Given the description of an element on the screen output the (x, y) to click on. 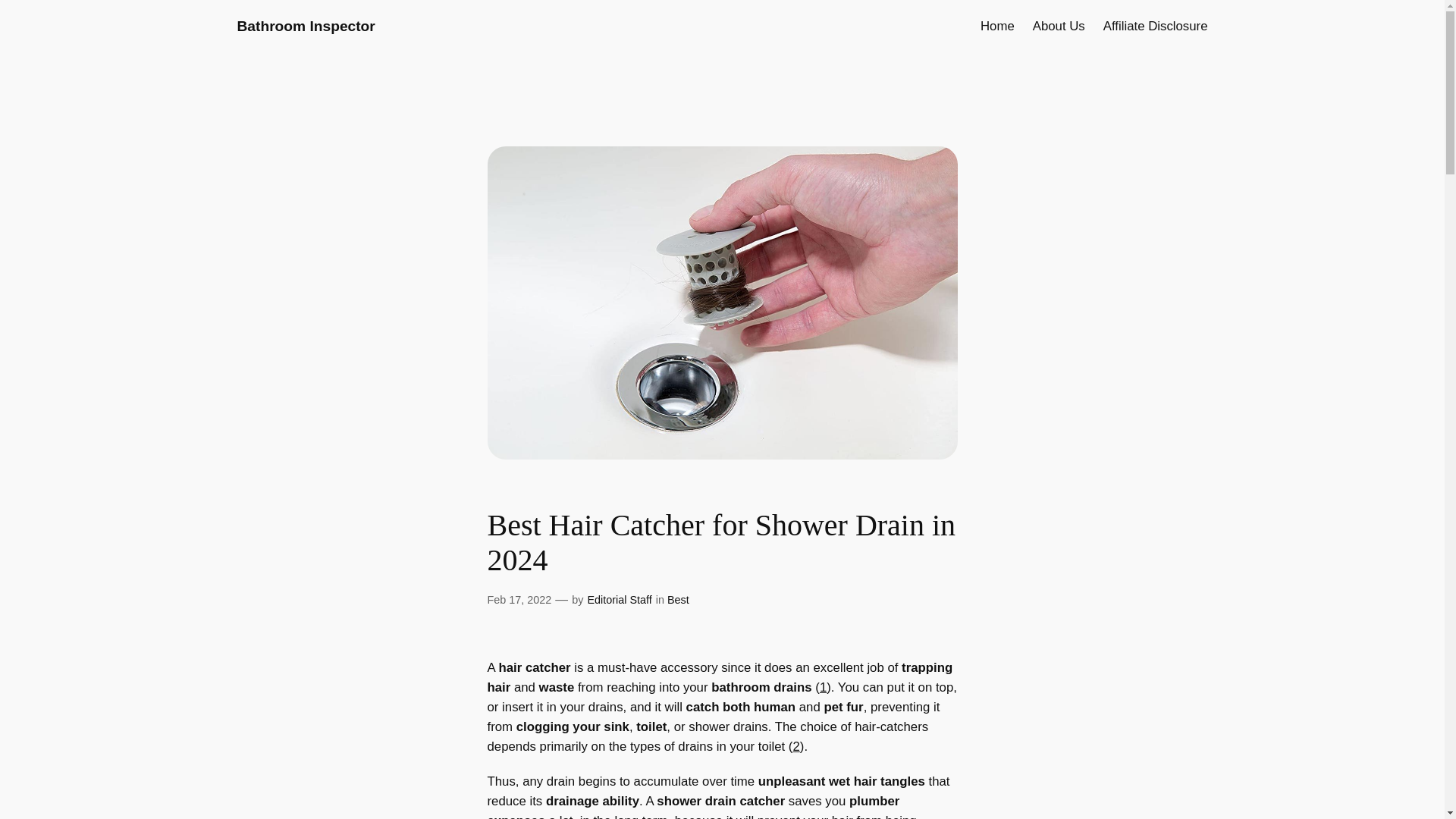
Affiliate Disclosure (1155, 26)
Best (677, 599)
About Us (1058, 26)
Bathroom Inspector (304, 26)
Feb 17, 2022 (518, 599)
Home (996, 26)
Editorial Staff (618, 599)
